Given the description of an element on the screen output the (x, y) to click on. 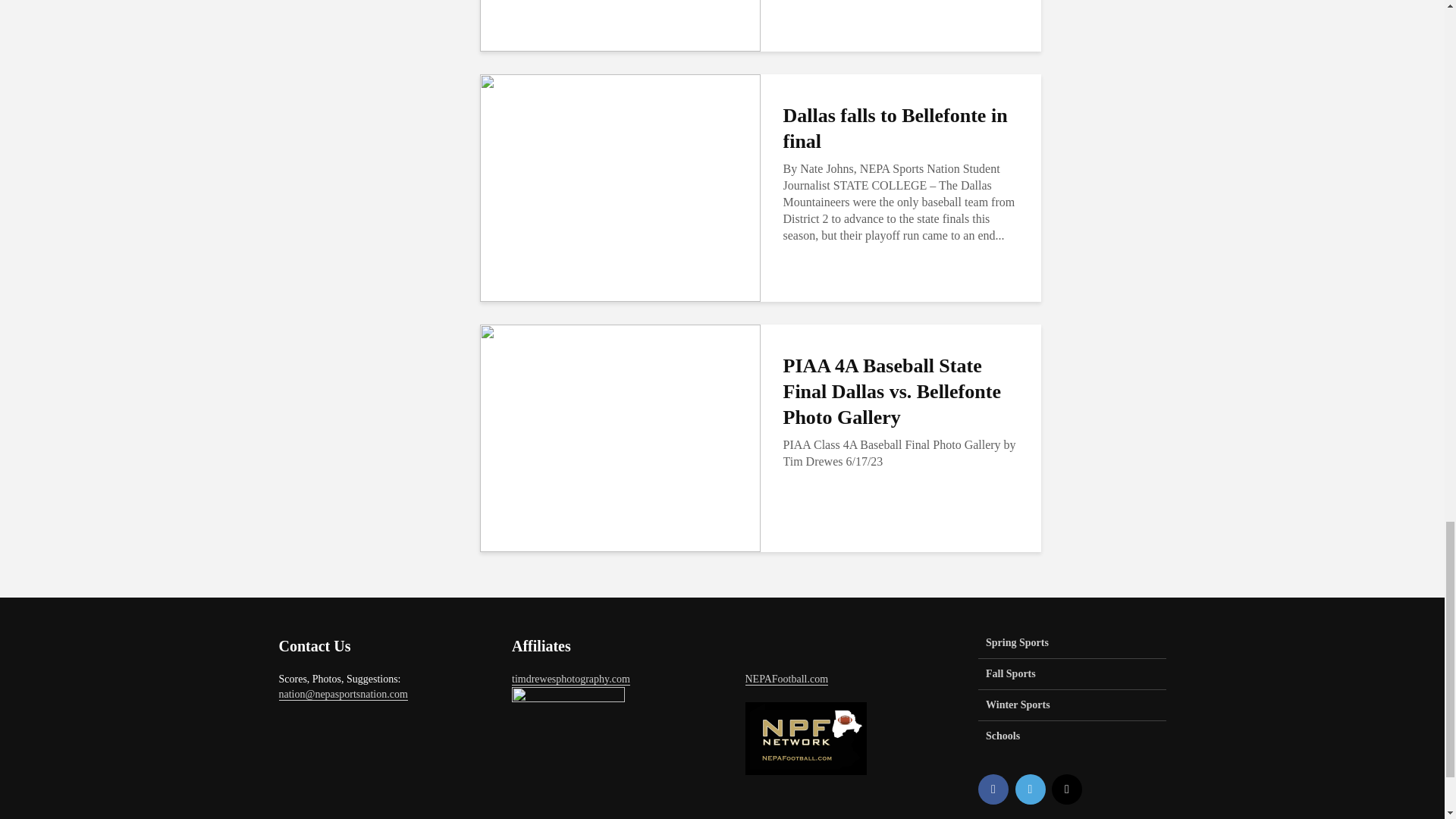
Dallas falls to Bellefonte in final (619, 186)
Instagram (1066, 788)
Facebook (993, 788)
Twitter (1029, 788)
